Given the description of an element on the screen output the (x, y) to click on. 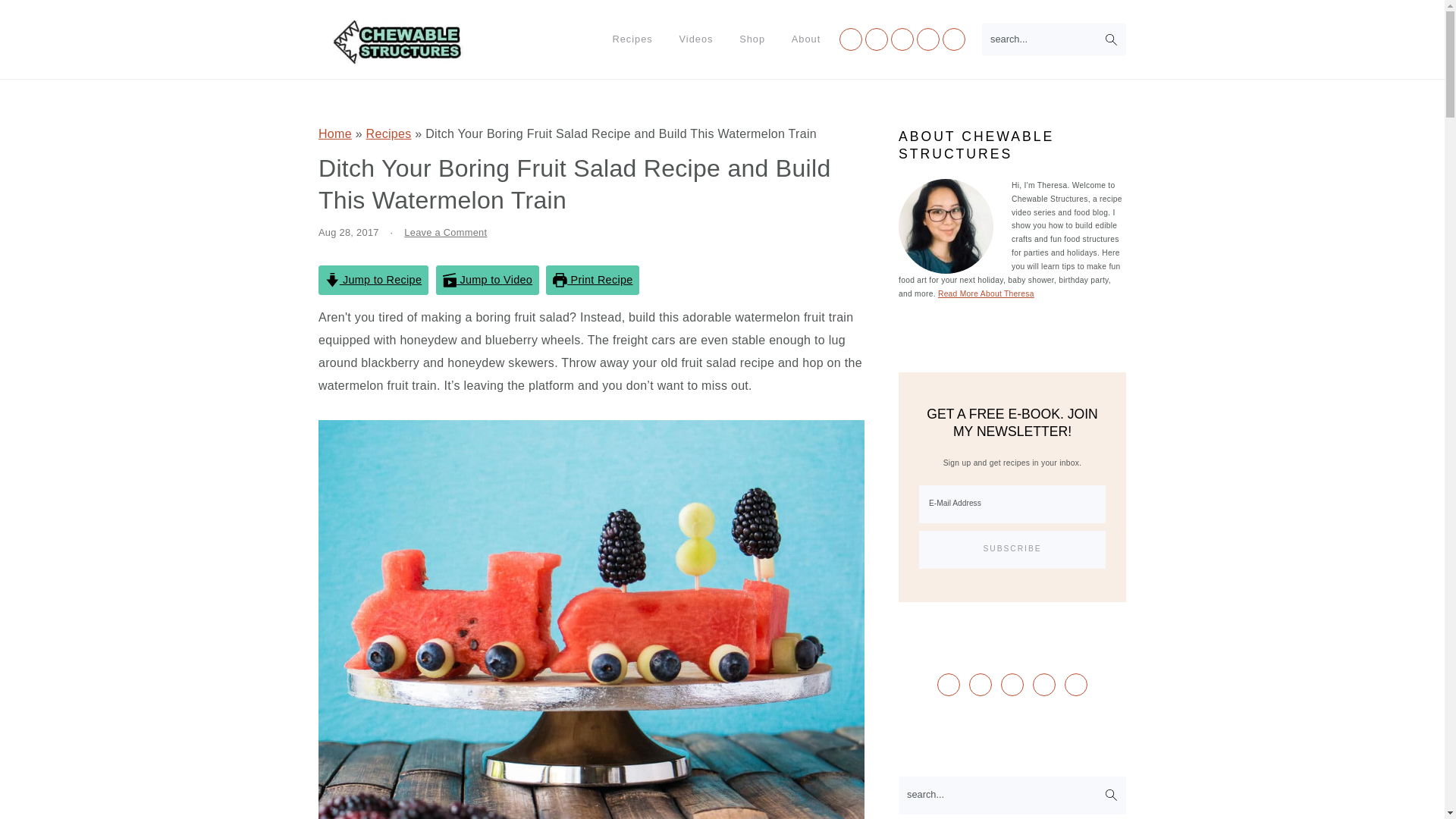
Recipes (632, 39)
Chewable Structures (399, 41)
Chewable Structures (399, 55)
Shop (752, 39)
Videos (694, 39)
About (805, 39)
SUBSCRIBE (1011, 549)
